Given the description of an element on the screen output the (x, y) to click on. 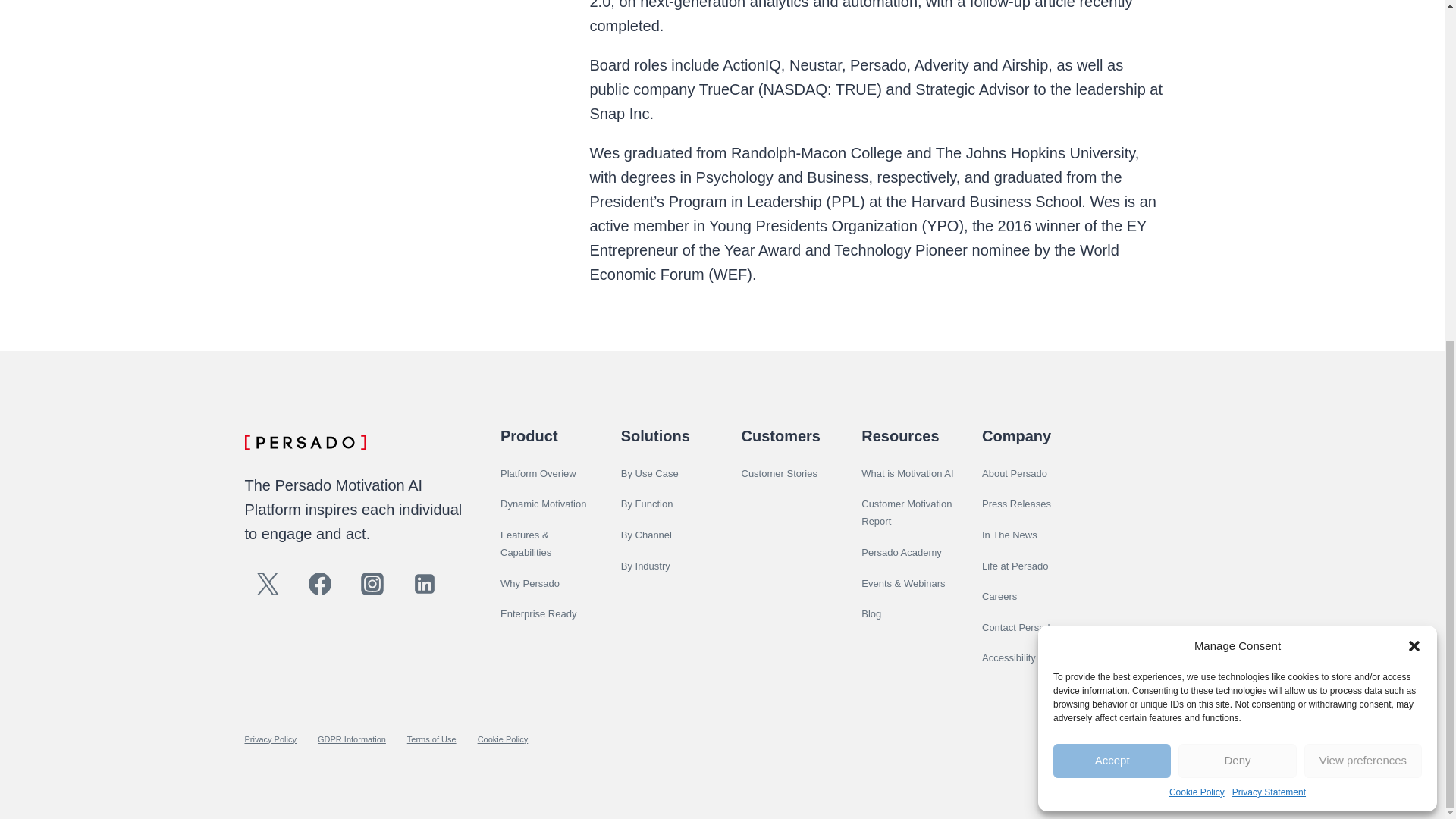
Cookie Policy (1196, 213)
Privacy Statement (1268, 213)
Accept (1111, 181)
Deny (1236, 181)
View preferences (1363, 181)
